Given the description of an element on the screen output the (x, y) to click on. 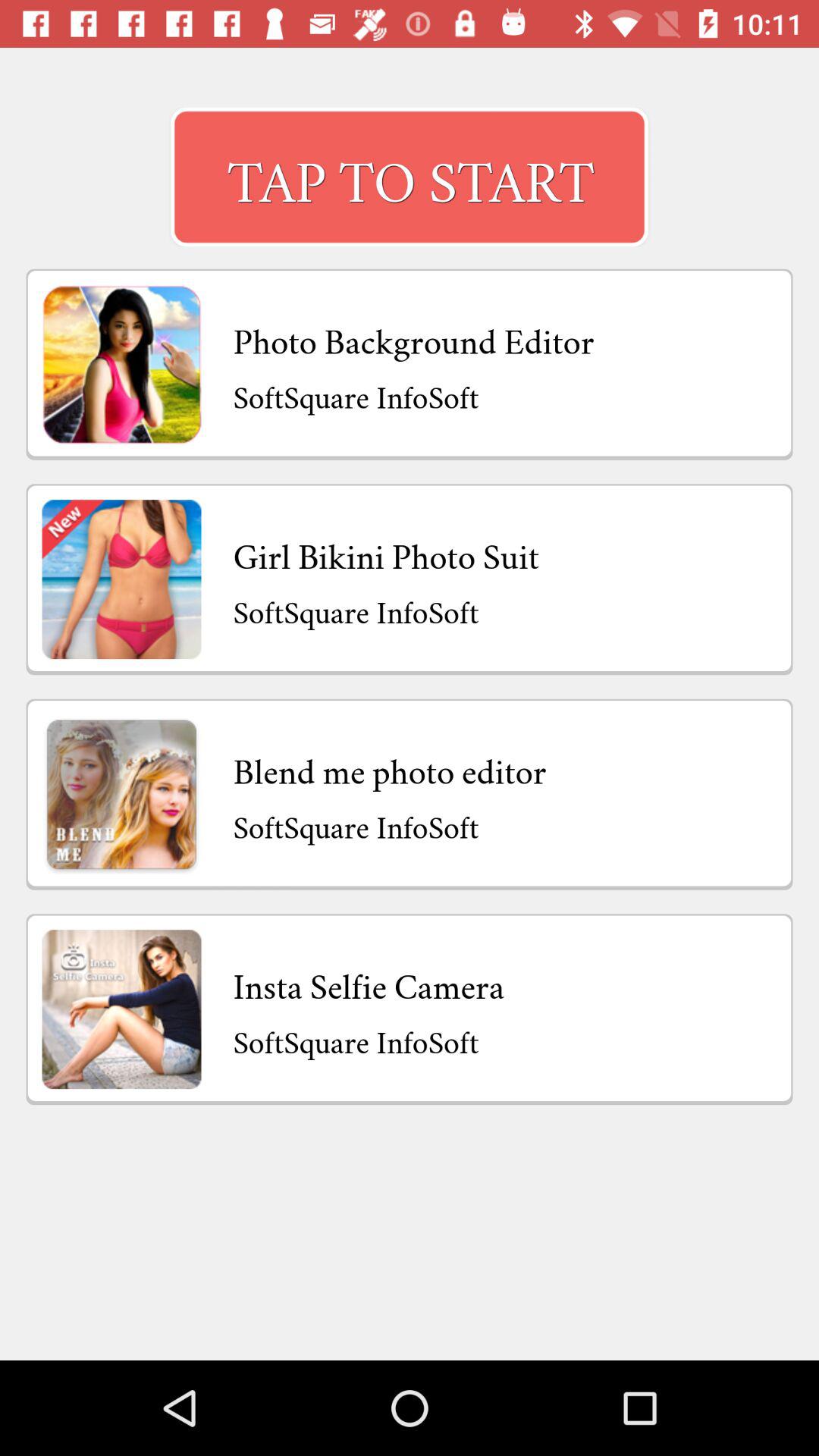
launch the insta selfie camera item (368, 982)
